Given the description of an element on the screen output the (x, y) to click on. 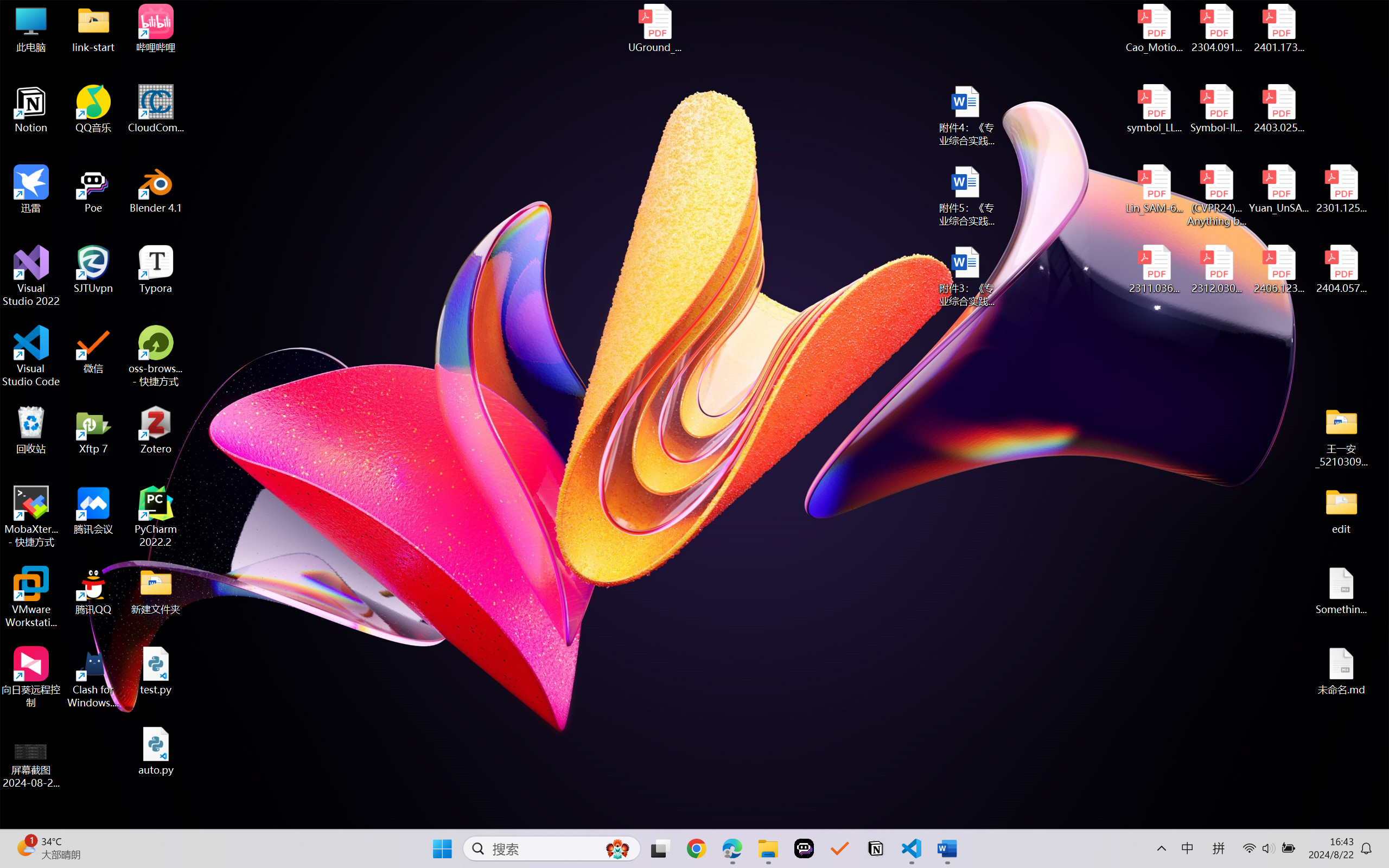
Blender 4.1 (156, 189)
symbol_LLM.pdf (1154, 109)
2311.03658v2.pdf (1154, 269)
Xftp 7 (93, 430)
SJTUvpn (93, 269)
(CVPR24)Matching Anything by Segmenting Anything.pdf (1216, 195)
Visual Studio Code (31, 355)
